Given the description of an element on the screen output the (x, y) to click on. 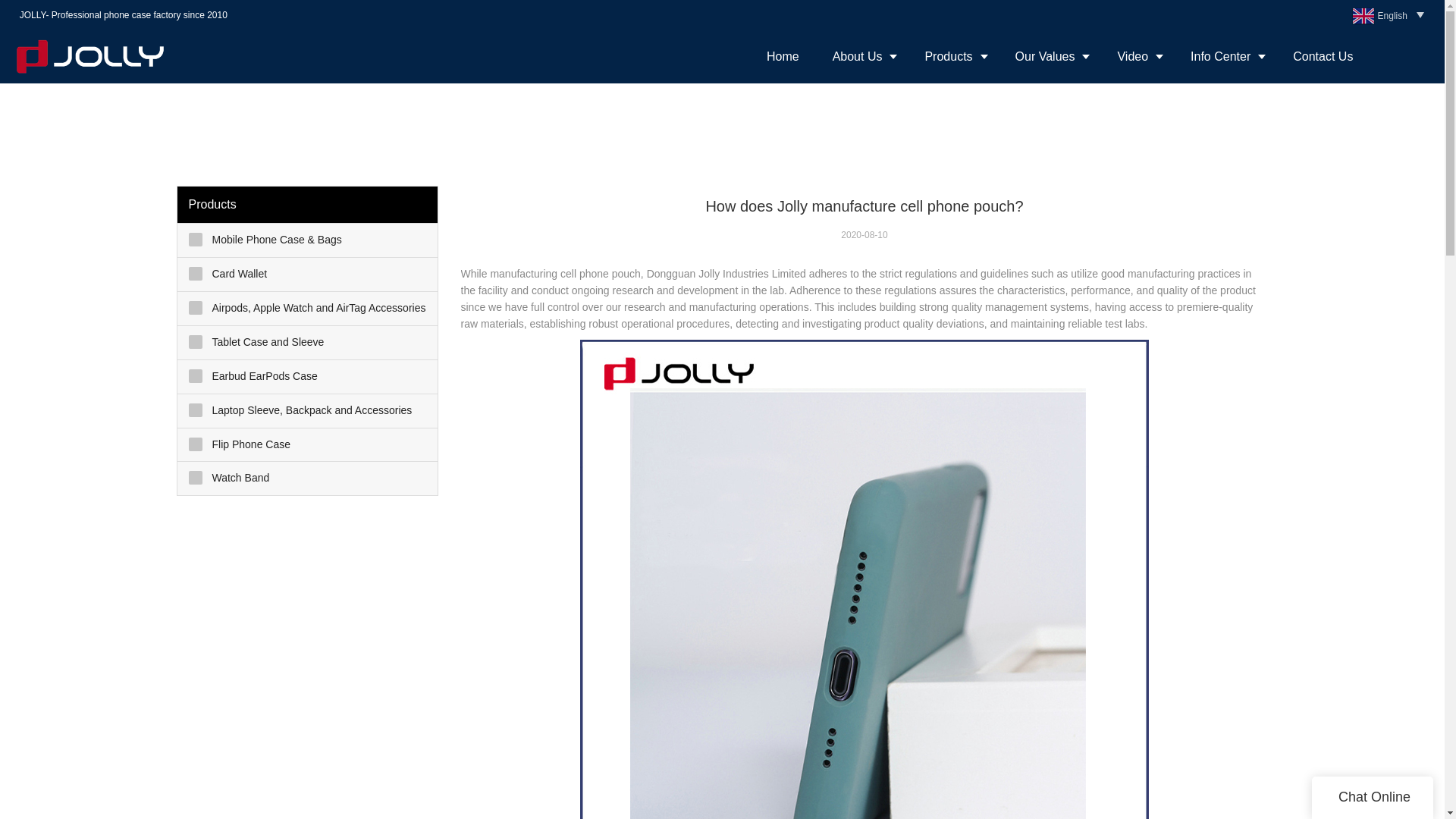
Home (782, 56)
About Us (861, 56)
Info Center (1224, 56)
Products (952, 56)
Video (1136, 56)
Our Values (1049, 56)
